Given the description of an element on the screen output the (x, y) to click on. 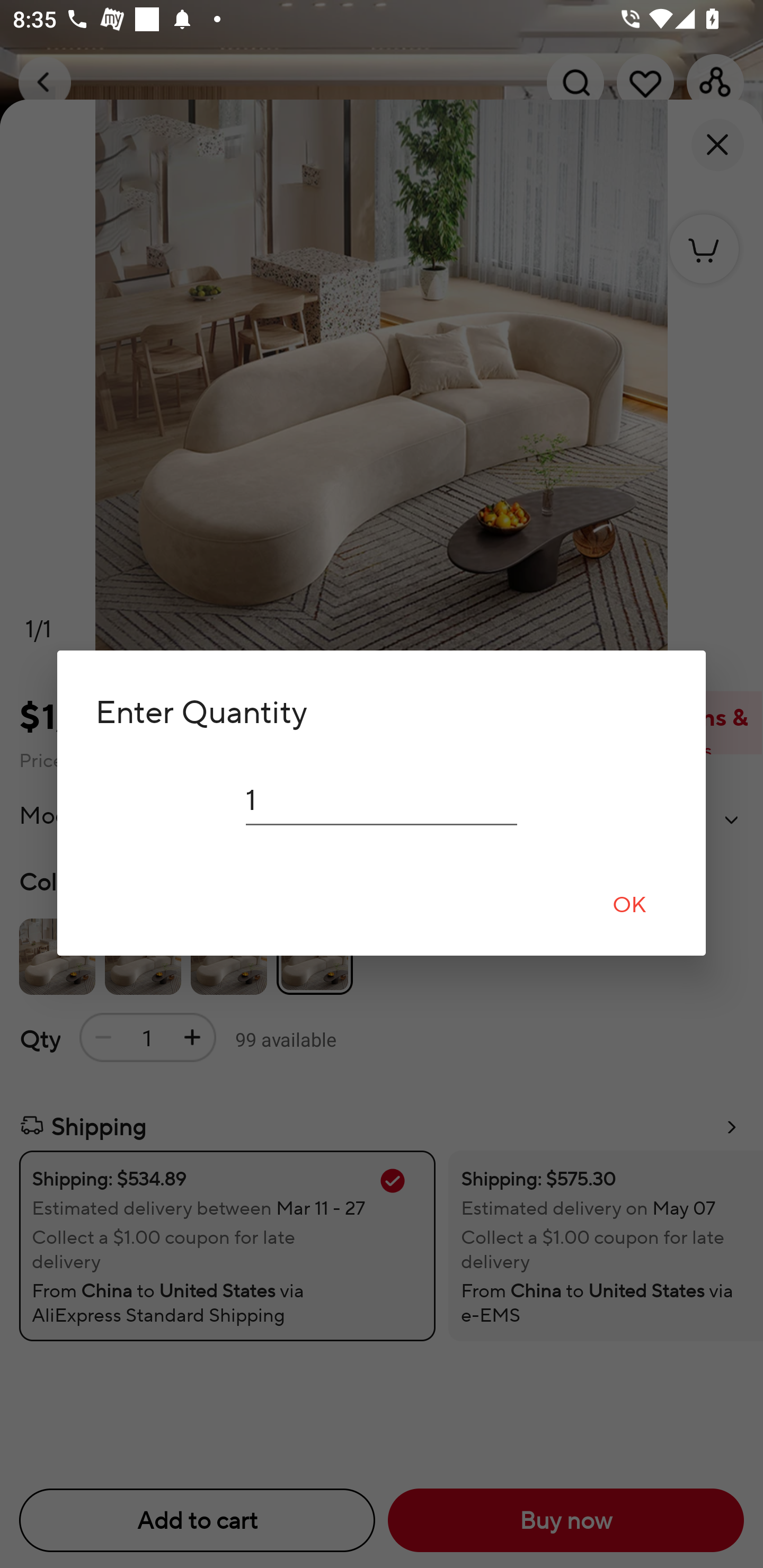
1 (381, 800)
OK (629, 904)
